Given the description of an element on the screen output the (x, y) to click on. 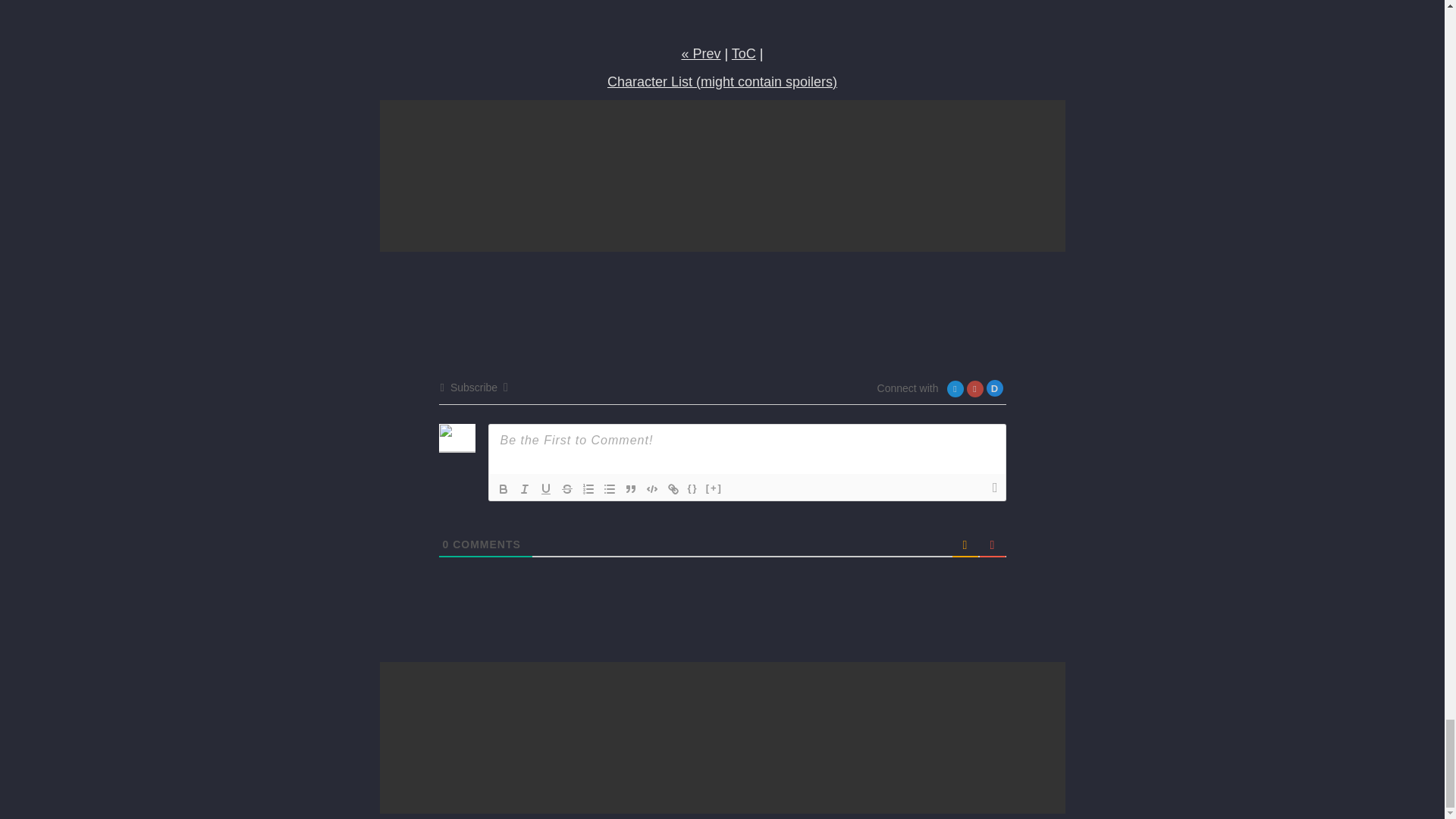
Unordered List (609, 488)
bullet (609, 488)
Bold (503, 488)
Ordered List (588, 488)
Code Block (652, 488)
ordered (588, 488)
Link (673, 488)
Underline (545, 488)
Source Code (692, 488)
Blockquote (631, 488)
Spoiler (713, 488)
Strike (567, 488)
Italic (524, 488)
ToC (743, 53)
